Given the description of an element on the screen output the (x, y) to click on. 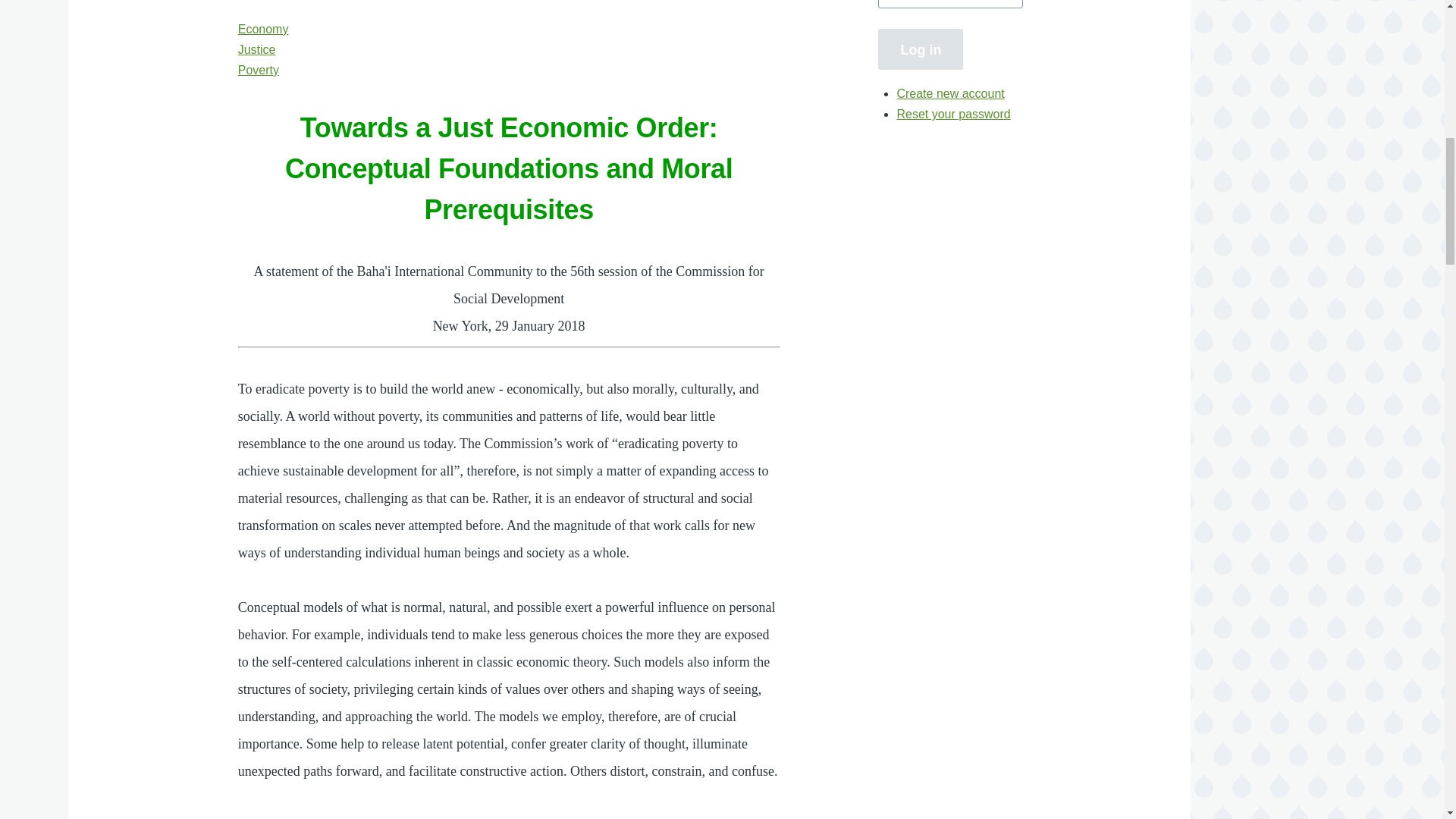
Economy (263, 29)
Log in (919, 48)
Send password reset instructions via email. (953, 113)
Create a new user account. (950, 92)
Poverty (258, 69)
Justice (257, 49)
